Given the description of an element on the screen output the (x, y) to click on. 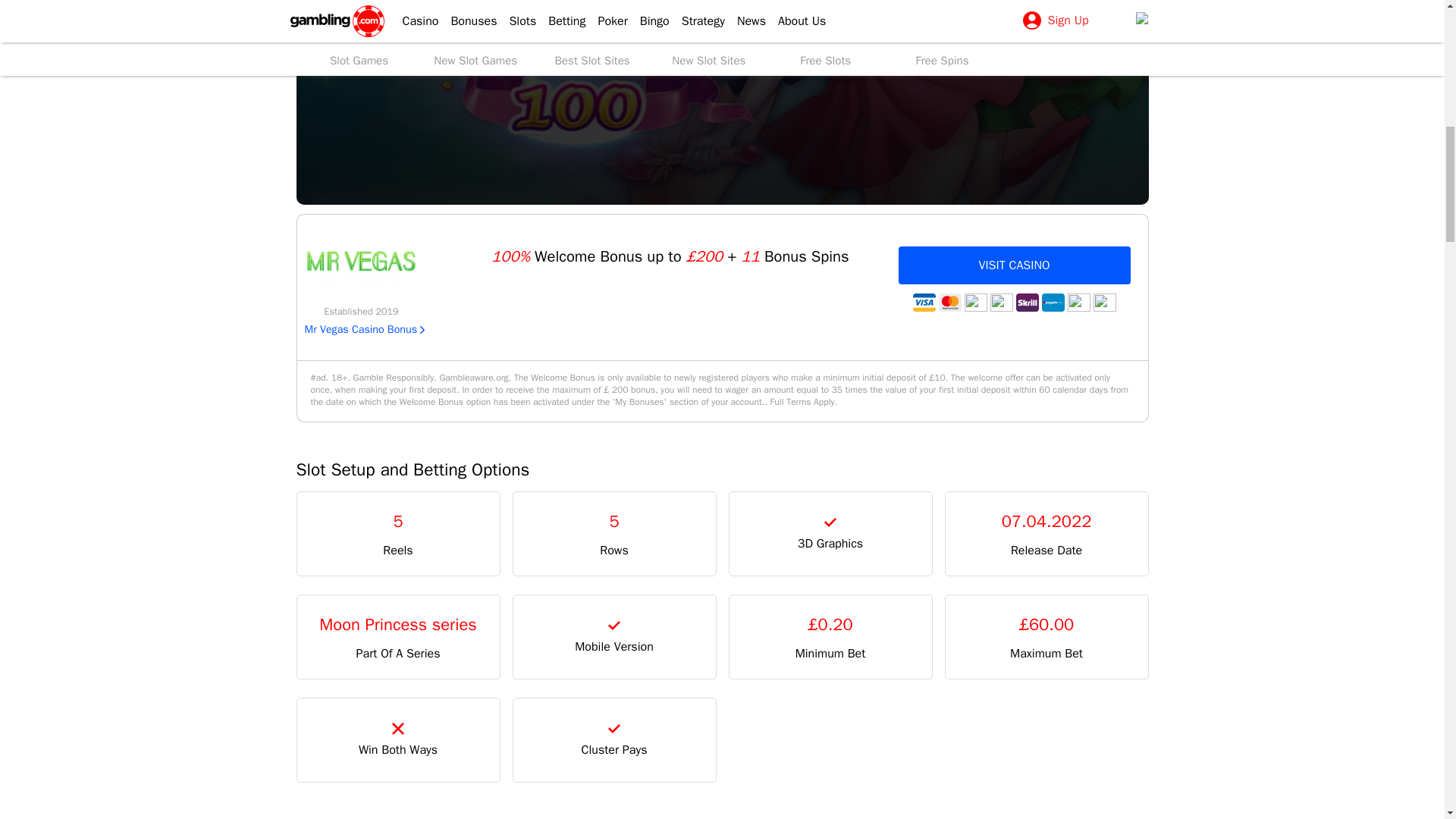
Skrill (1027, 302)
VISA (924, 302)
Mr Vegas Casino (361, 266)
Paysafecard (1053, 302)
PayPal (975, 302)
MasterCard (949, 302)
NETELLER (1078, 302)
Trustly (1001, 302)
Maestro (1104, 302)
